Given the description of an element on the screen output the (x, y) to click on. 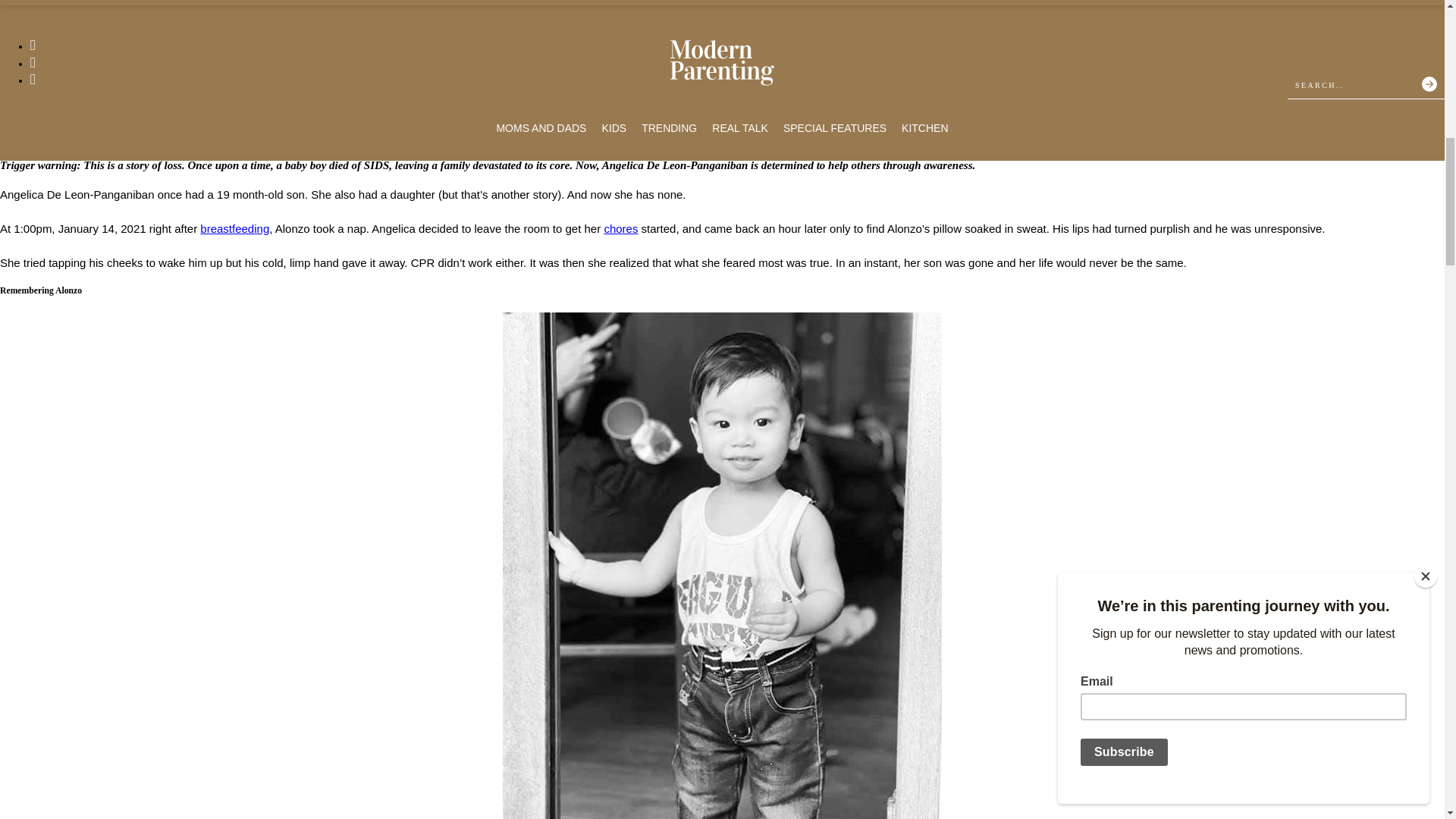
breastfeeding (234, 228)
Facebook (12, 126)
Copy Link (66, 126)
chores (620, 228)
X (38, 126)
